Given the description of an element on the screen output the (x, y) to click on. 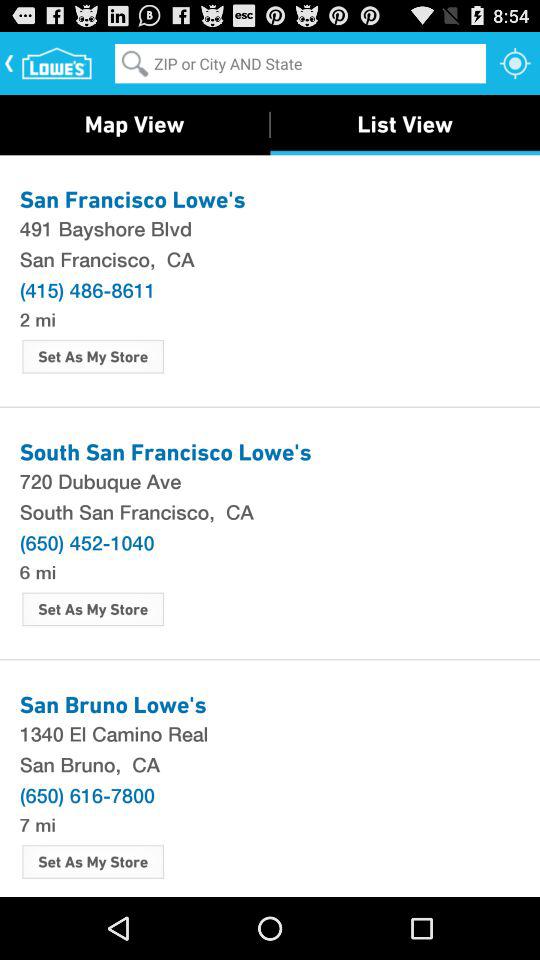
flip to map view icon (134, 124)
